Given the description of an element on the screen output the (x, y) to click on. 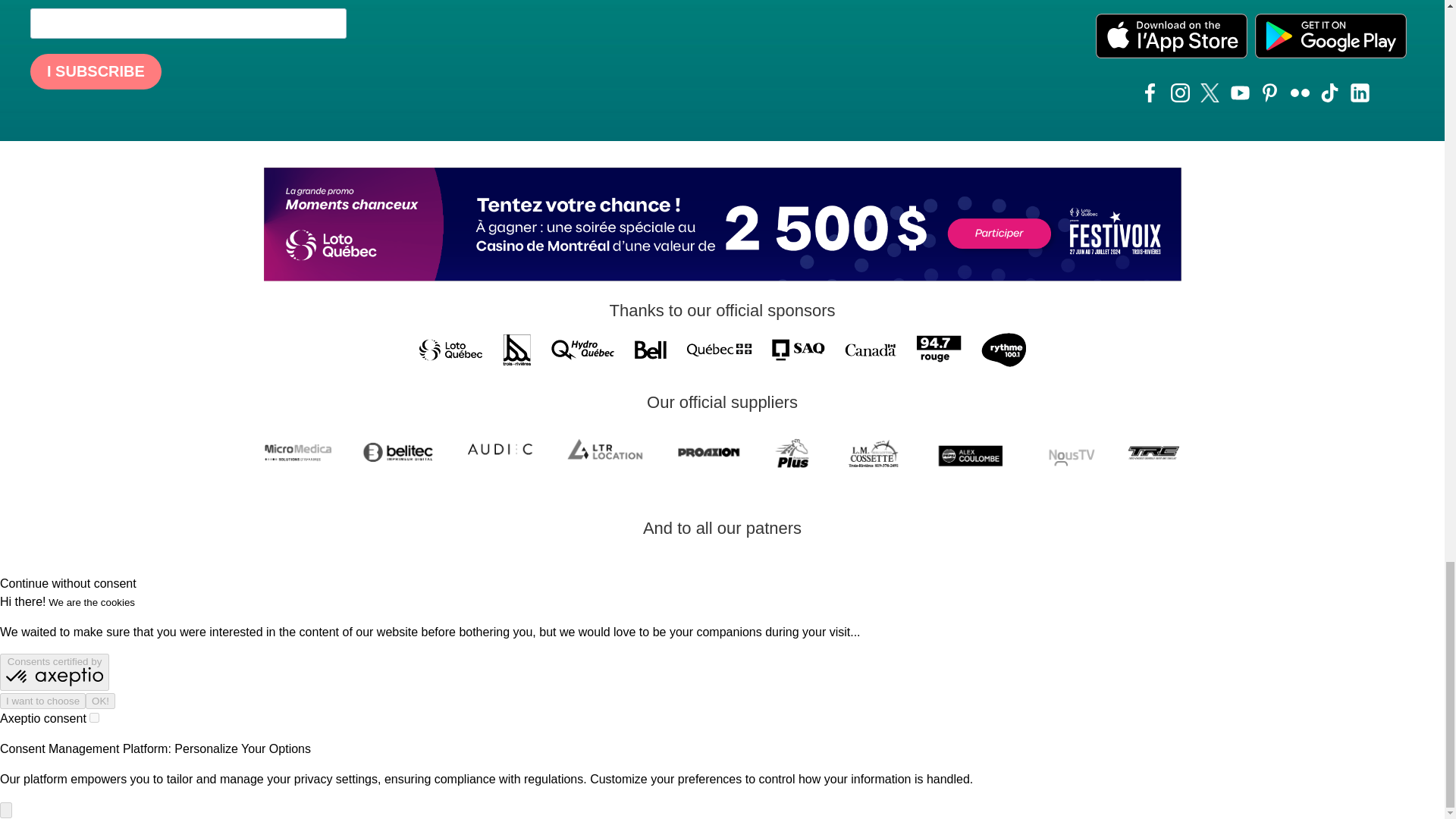
I SUBSCRIBE (95, 71)
